Given the description of an element on the screen output the (x, y) to click on. 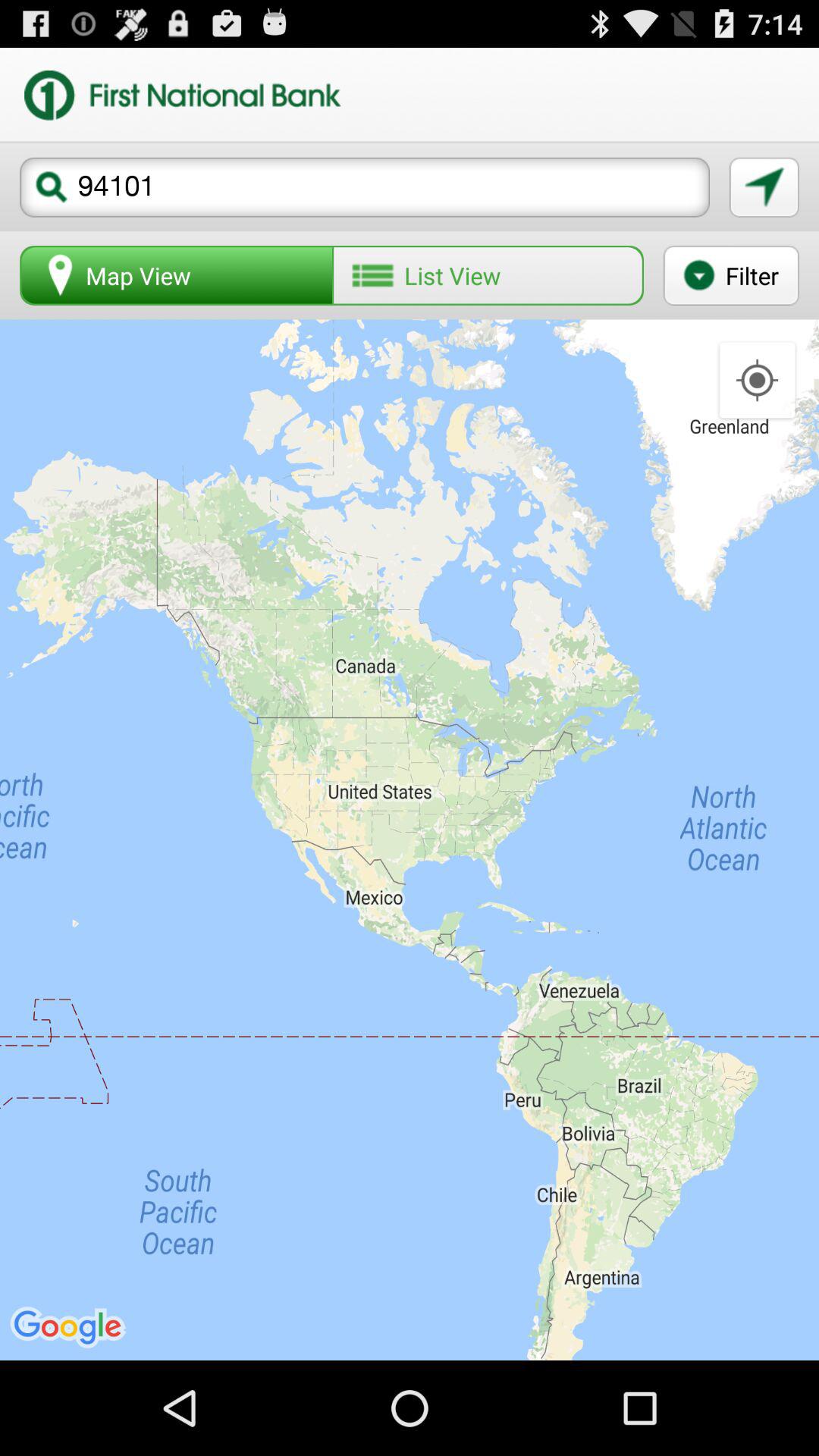
tap map view (176, 275)
